Given the description of an element on the screen output the (x, y) to click on. 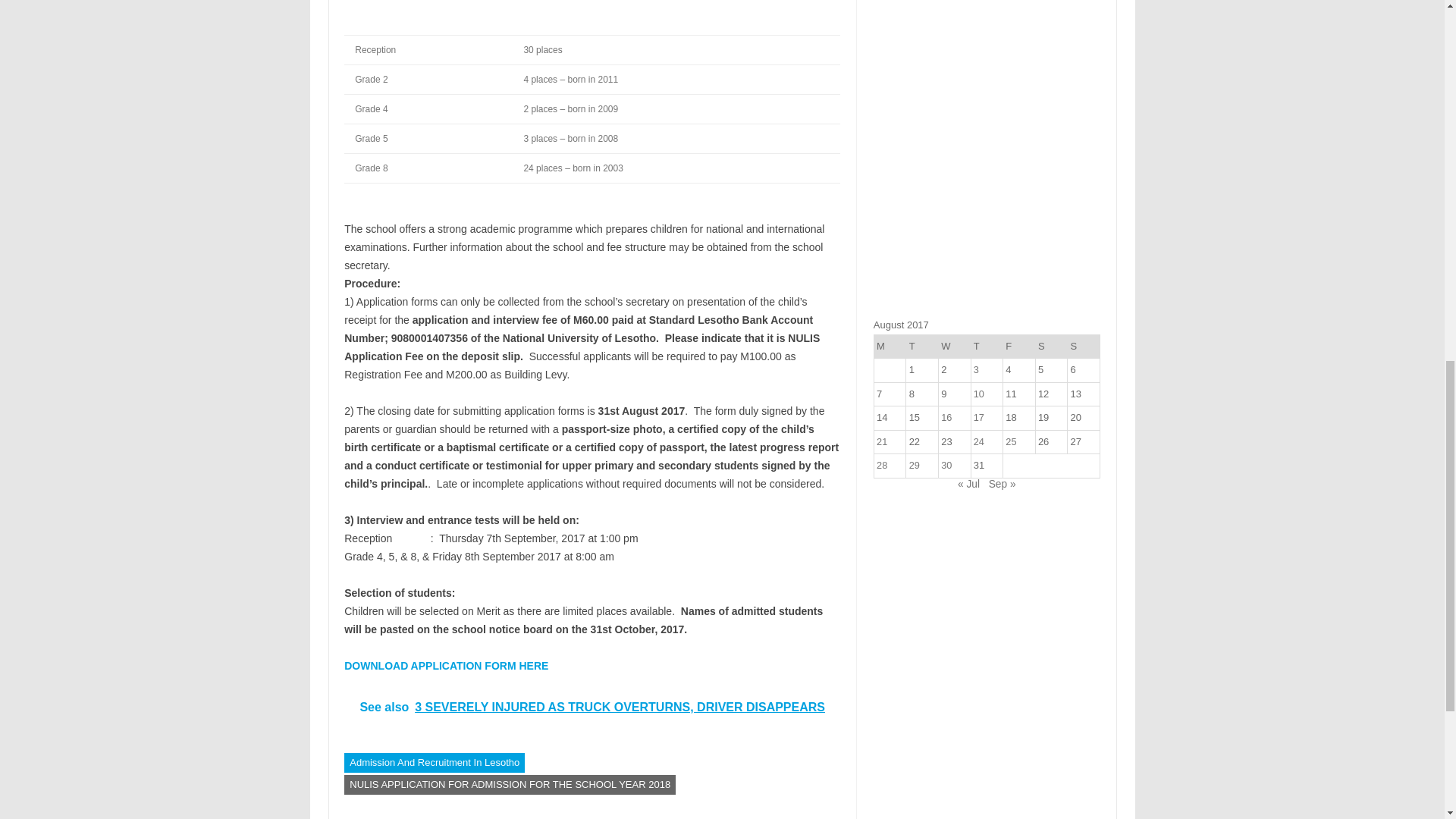
DOWNLOAD APPLICATION FORM HERE (445, 665)
29 (914, 464)
Admission And Recruitment In Lesotho (433, 762)
17 (979, 417)
28 (881, 464)
24 (979, 441)
21 (881, 441)
NULIS APPLICATION FOR ADMISSION FOR THE SCHOOL YEAR 2018 (509, 784)
16 (946, 417)
10 (979, 393)
